Given the description of an element on the screen output the (x, y) to click on. 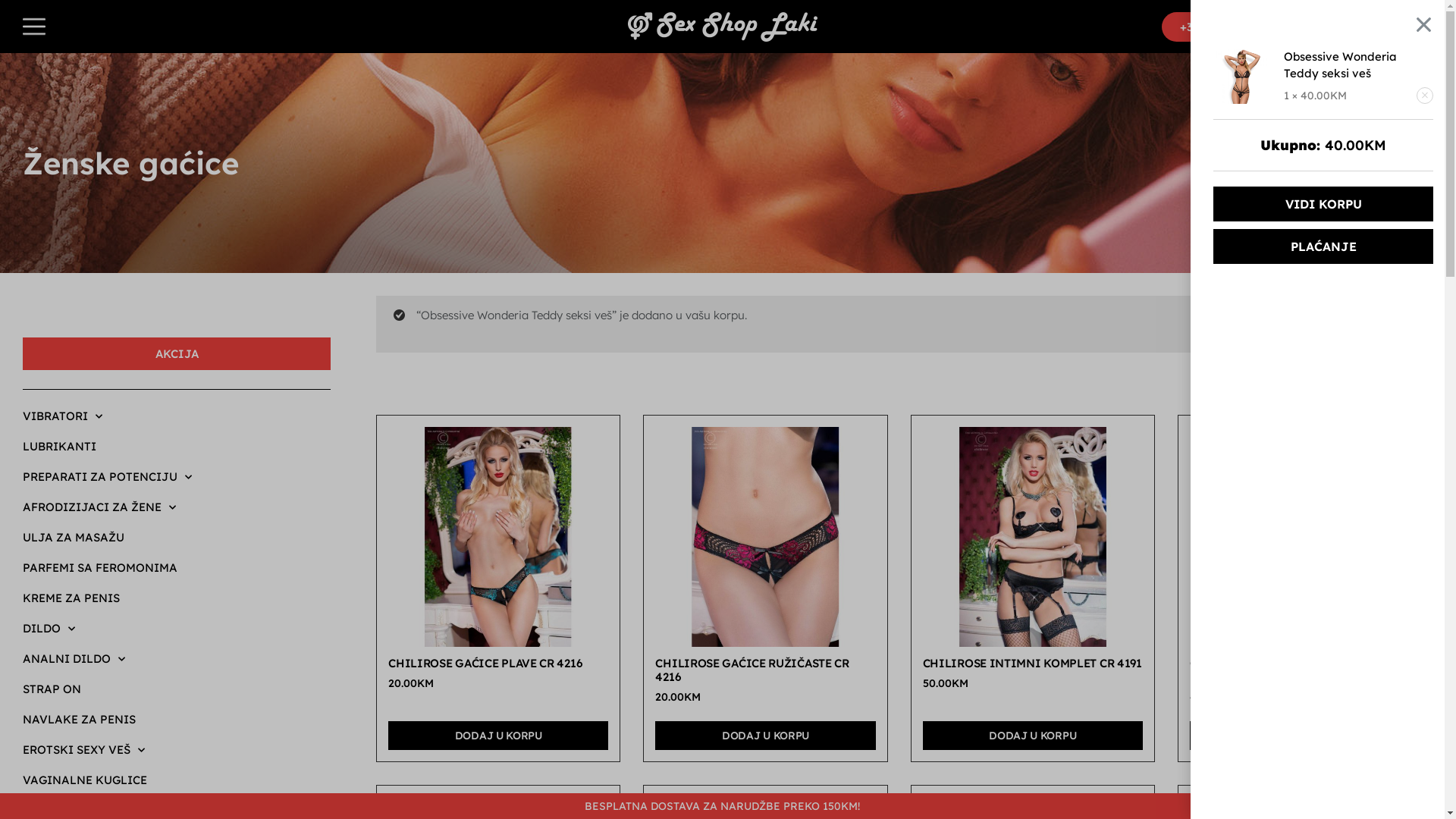
PARFEMI SA FEROMONIMA Element type: text (176, 567)
AKCIJA Element type: text (176, 353)
STRAP ON Element type: text (176, 689)
ANALNI DILDO Element type: text (176, 658)
PREPARATI ZA POTENCIJU Element type: text (176, 476)
DODAJ U KORPU Element type: text (1032, 735)
NAVLAKE ZA PENIS Element type: text (176, 719)
LUBRIKANTI Element type: text (176, 446)
VIDI KORPU Element type: text (1338, 324)
+387 61 702 404 Element type: text (1223, 26)
1 Element type: text (1400, 25)
VIBRATORI Element type: text (176, 416)
DODAJ U KORPU Element type: text (765, 735)
DILDO Element type: text (176, 628)
CHILIROSE TRODIJELNI INTIMNI KOMPLET 4193
45.00KM Element type: text (1299, 568)
DODAJ U KORPU Element type: text (498, 735)
VIDI KORPU Element type: text (1323, 203)
VAGINALNE KUGLICE Element type: text (176, 780)
CHILIROSE INTIMNI KOMPLET CR 4191
50.00KM Element type: text (1032, 561)
KREME ZA PENIS Element type: text (176, 598)
DODAJ U KORPU Element type: text (1299, 735)
